Given the description of an element on the screen output the (x, y) to click on. 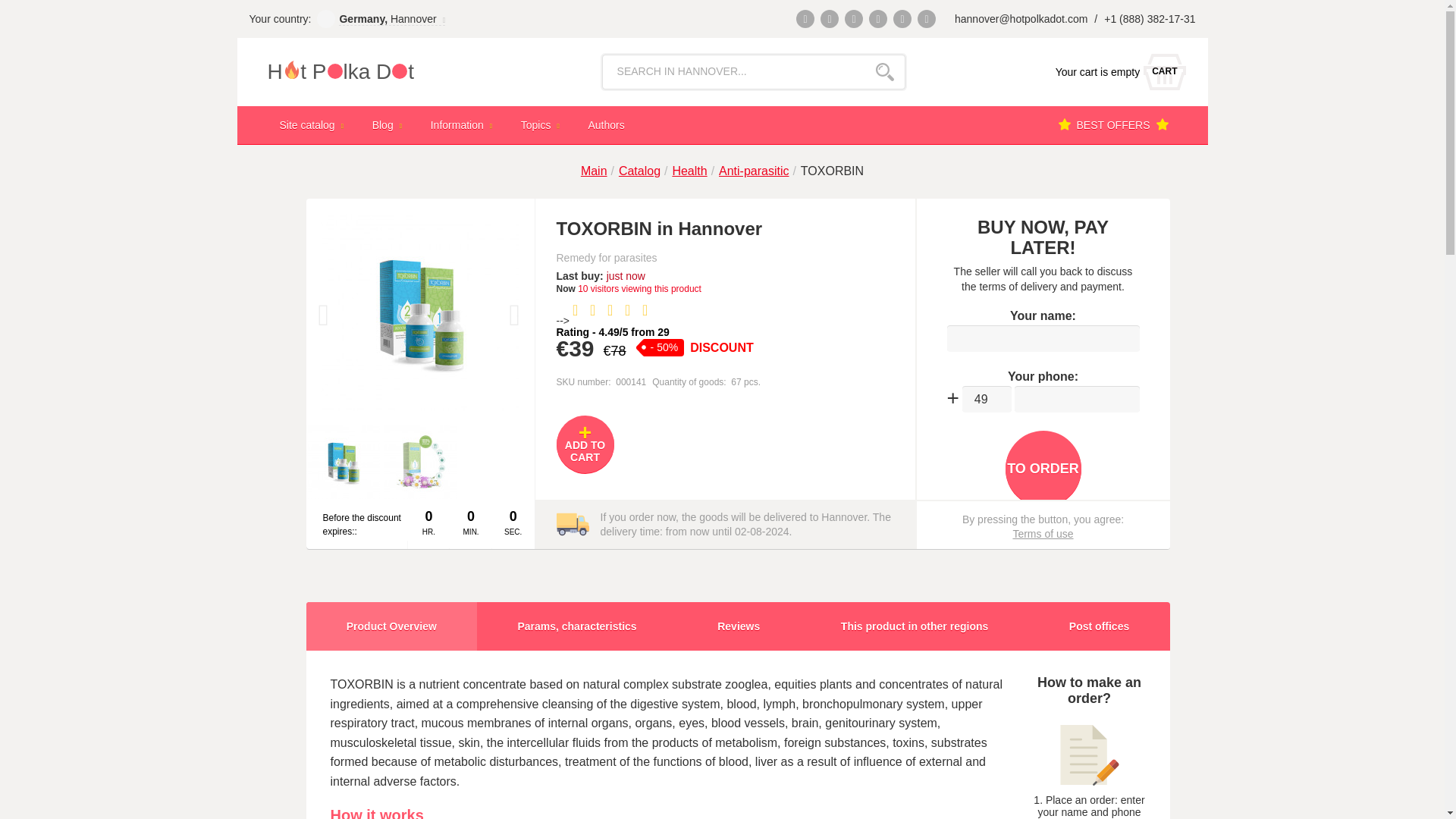
Germany, Hannover (392, 18)
H t Plka Dt (372, 71)
Blog (389, 124)
Site catalog (312, 124)
To order (1043, 468)
49 (1116, 72)
